Given the description of an element on the screen output the (x, y) to click on. 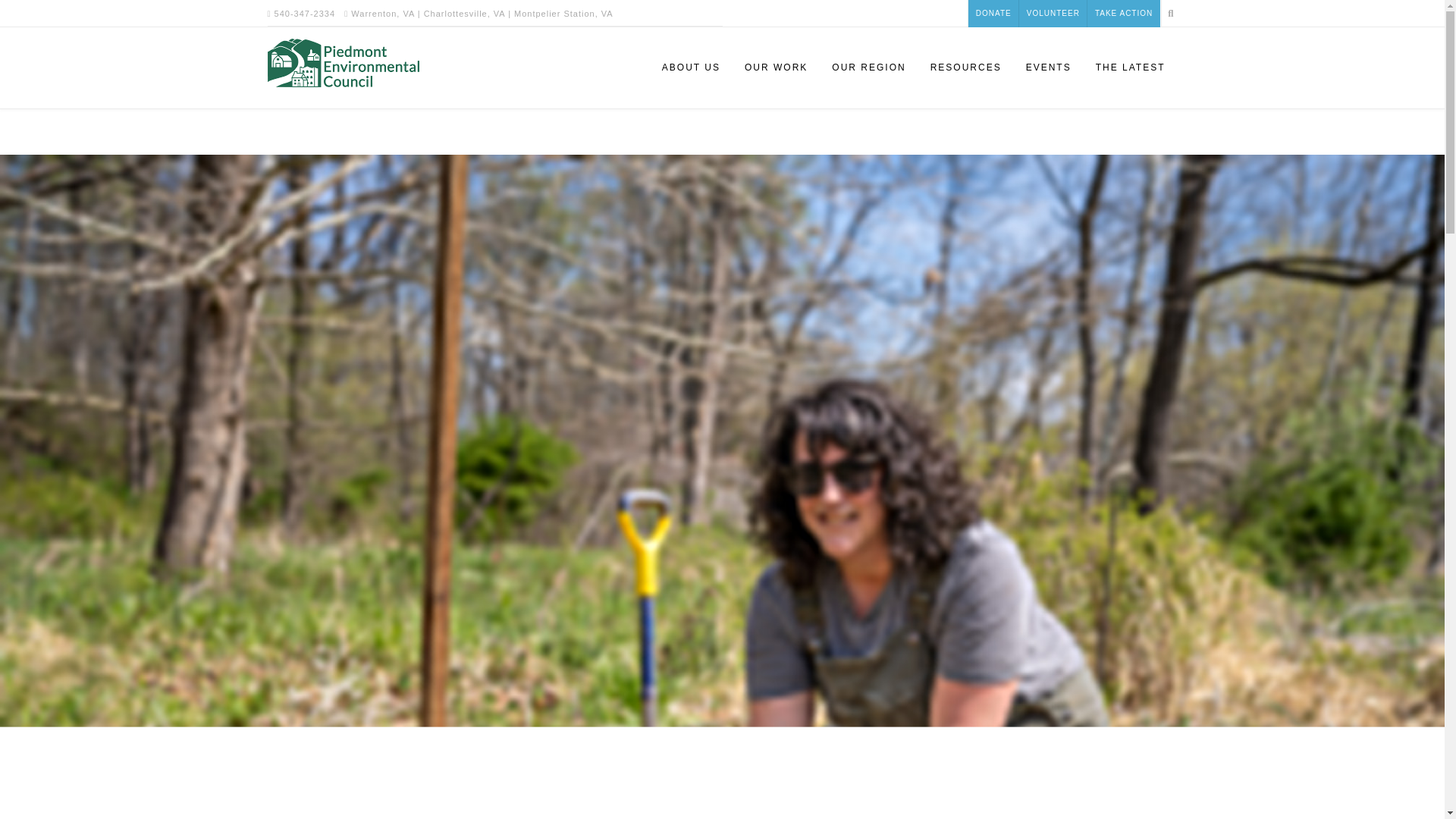
ABOUT US (690, 67)
DONATE (993, 13)
TAKE ACTION (1123, 13)
VOLUNTEER (1053, 13)
OUR WORK (775, 67)
